Given the description of an element on the screen output the (x, y) to click on. 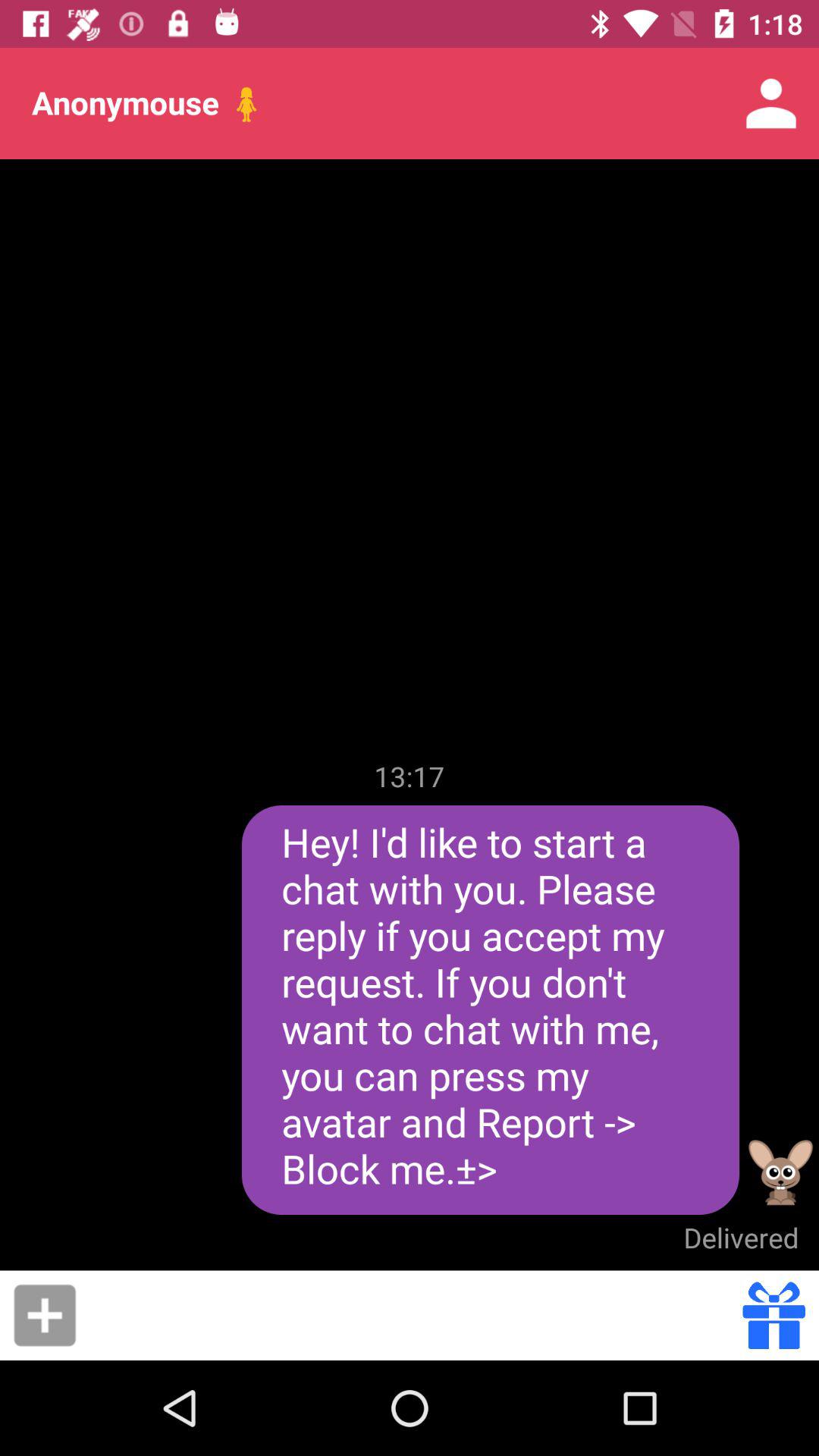
launch icon below the delivered item (414, 1315)
